Given the description of an element on the screen output the (x, y) to click on. 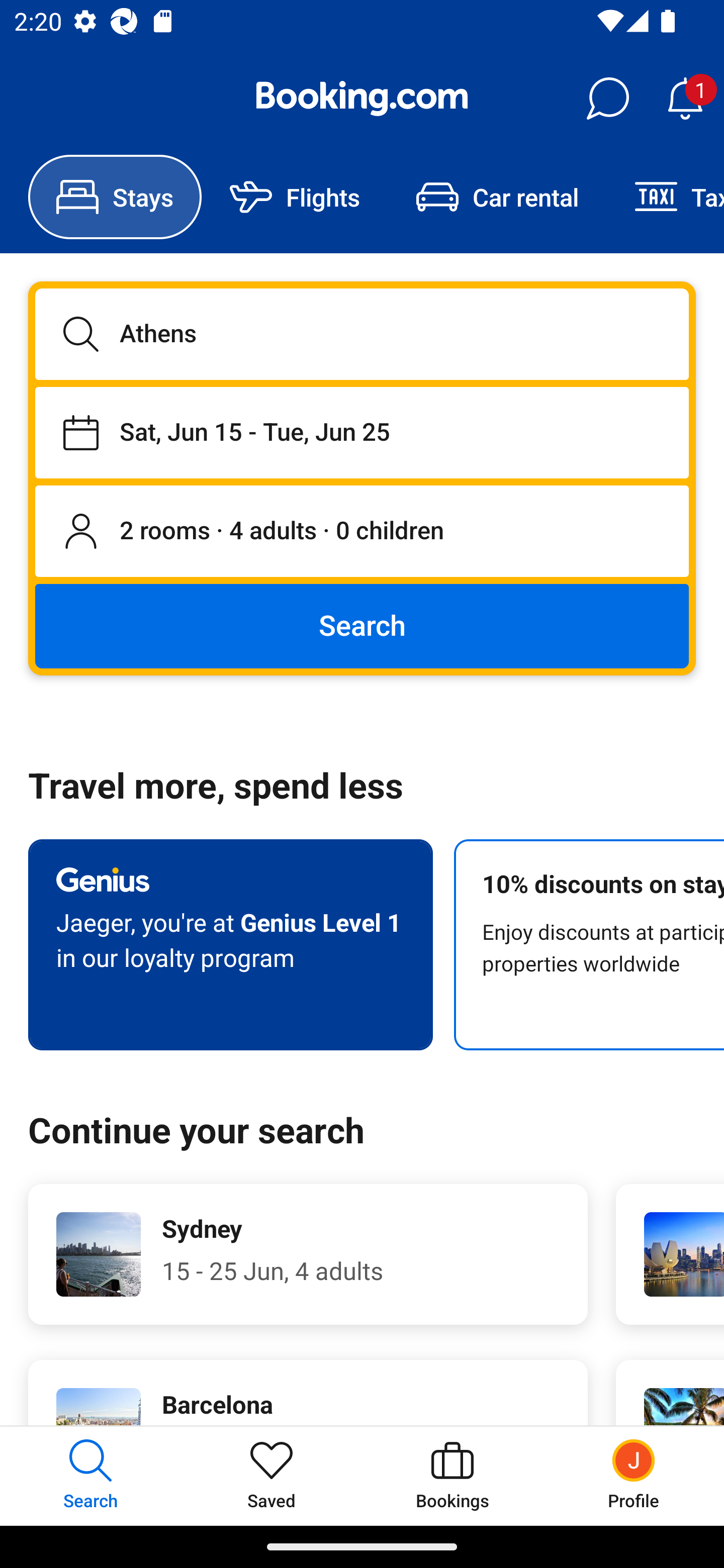
Messages (607, 98)
Notifications (685, 98)
Stays (114, 197)
Flights (294, 197)
Car rental (497, 197)
Taxi (665, 197)
Athens (361, 333)
Staying from Sat, Jun 15 until Tue, Jun 25 (361, 432)
2 rooms, 4 adults, 0 children (361, 531)
Search (361, 625)
Sydney 15 - 25 Jun, 4 adults (307, 1253)
Saved (271, 1475)
Bookings (452, 1475)
Profile (633, 1475)
